Given the description of an element on the screen output the (x, y) to click on. 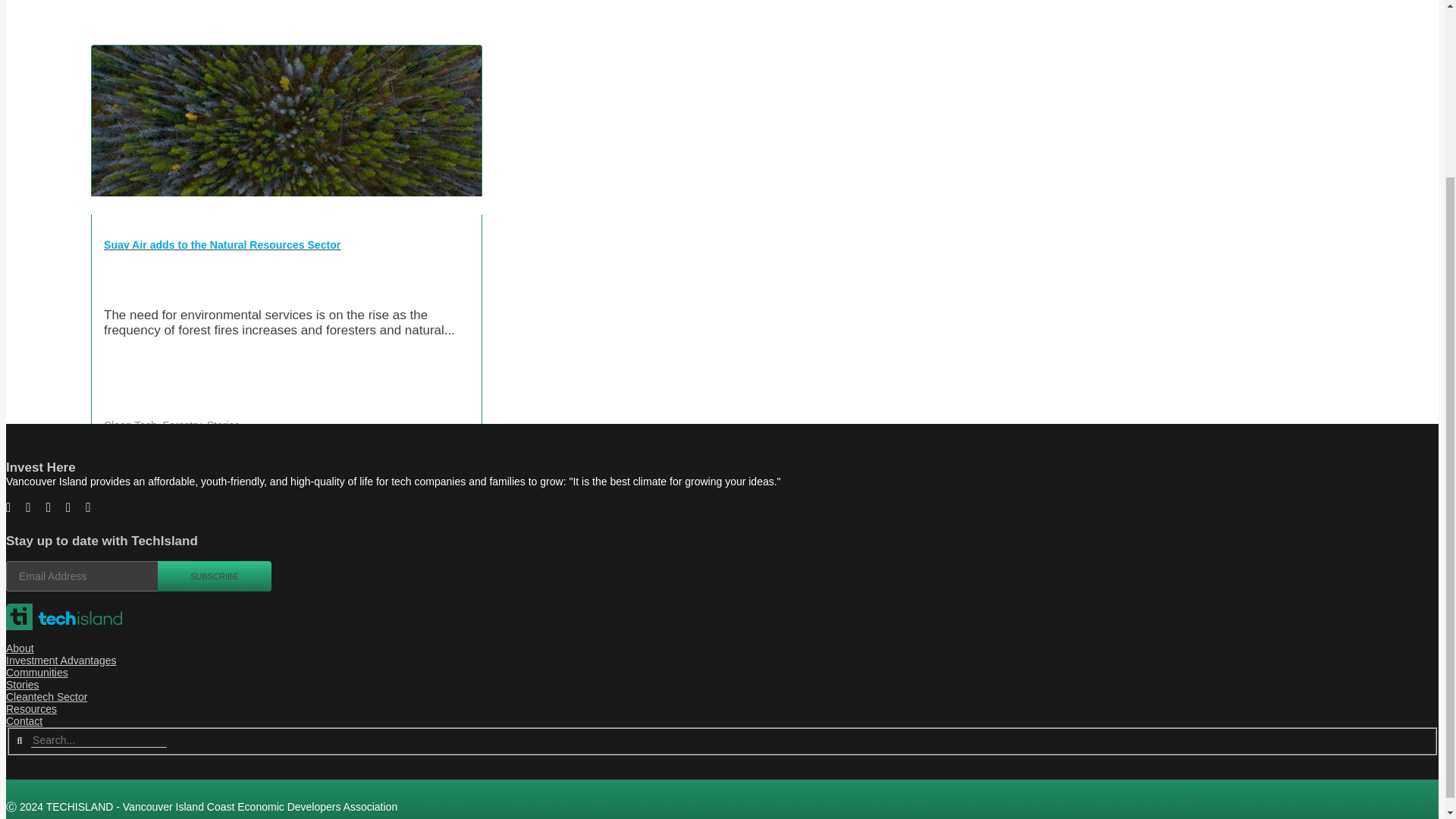
Suav Air adds to the Natural Resources Sector (286, 252)
Search for: (98, 740)
SUBSCRIBE (213, 576)
